Given the description of an element on the screen output the (x, y) to click on. 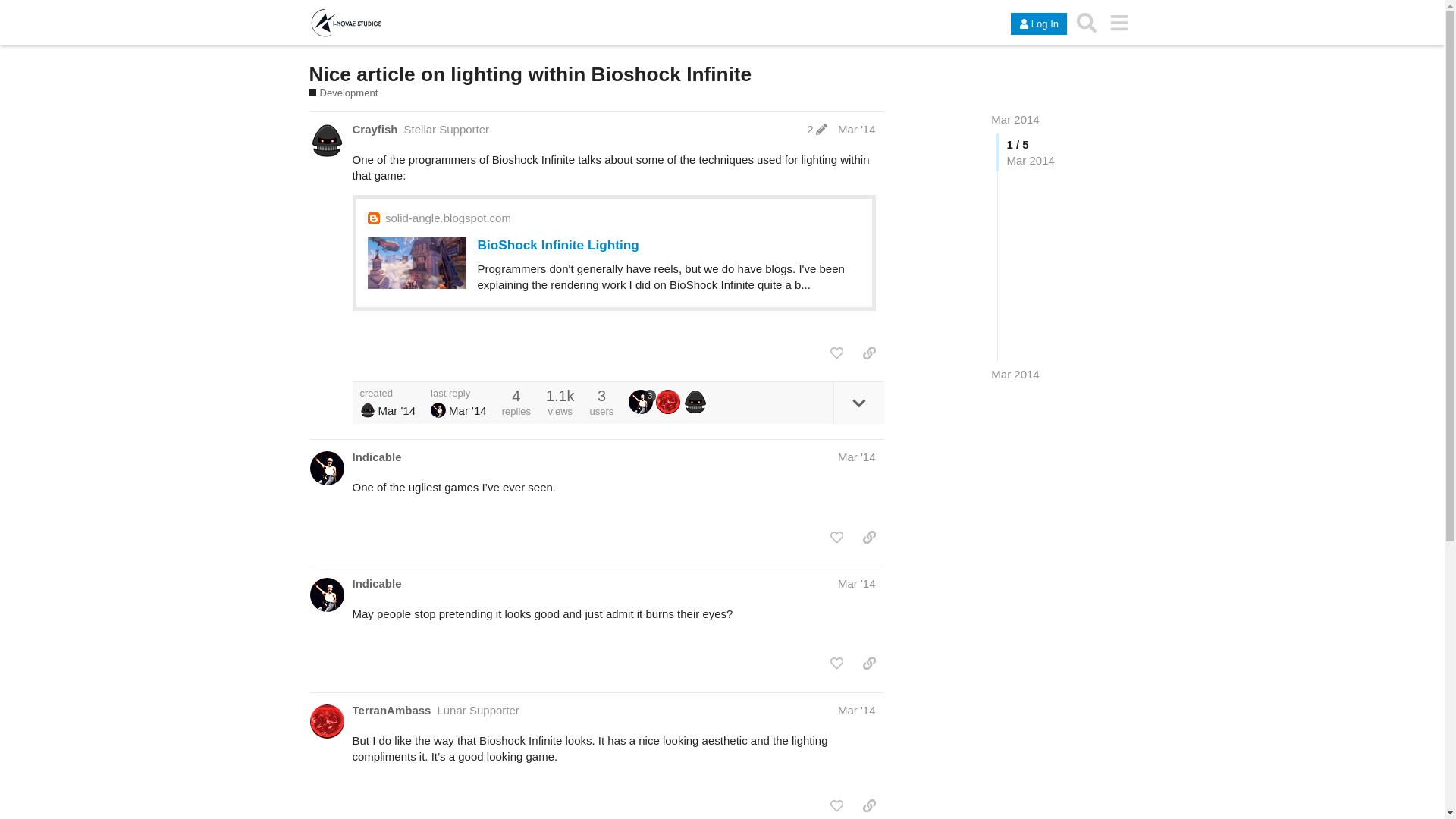
Mar 2014 (1015, 374)
Indicable (376, 583)
post last edited on Mar 4, 2014 7:51 am (816, 128)
Mar 6, 2014 7:05 am (467, 410)
Mar '14 (857, 128)
Mar '14 (857, 583)
Mar '14 (857, 456)
Log In (1038, 24)
Mar 2014 (1015, 119)
Crayfish (374, 129)
